Given the description of an element on the screen output the (x, y) to click on. 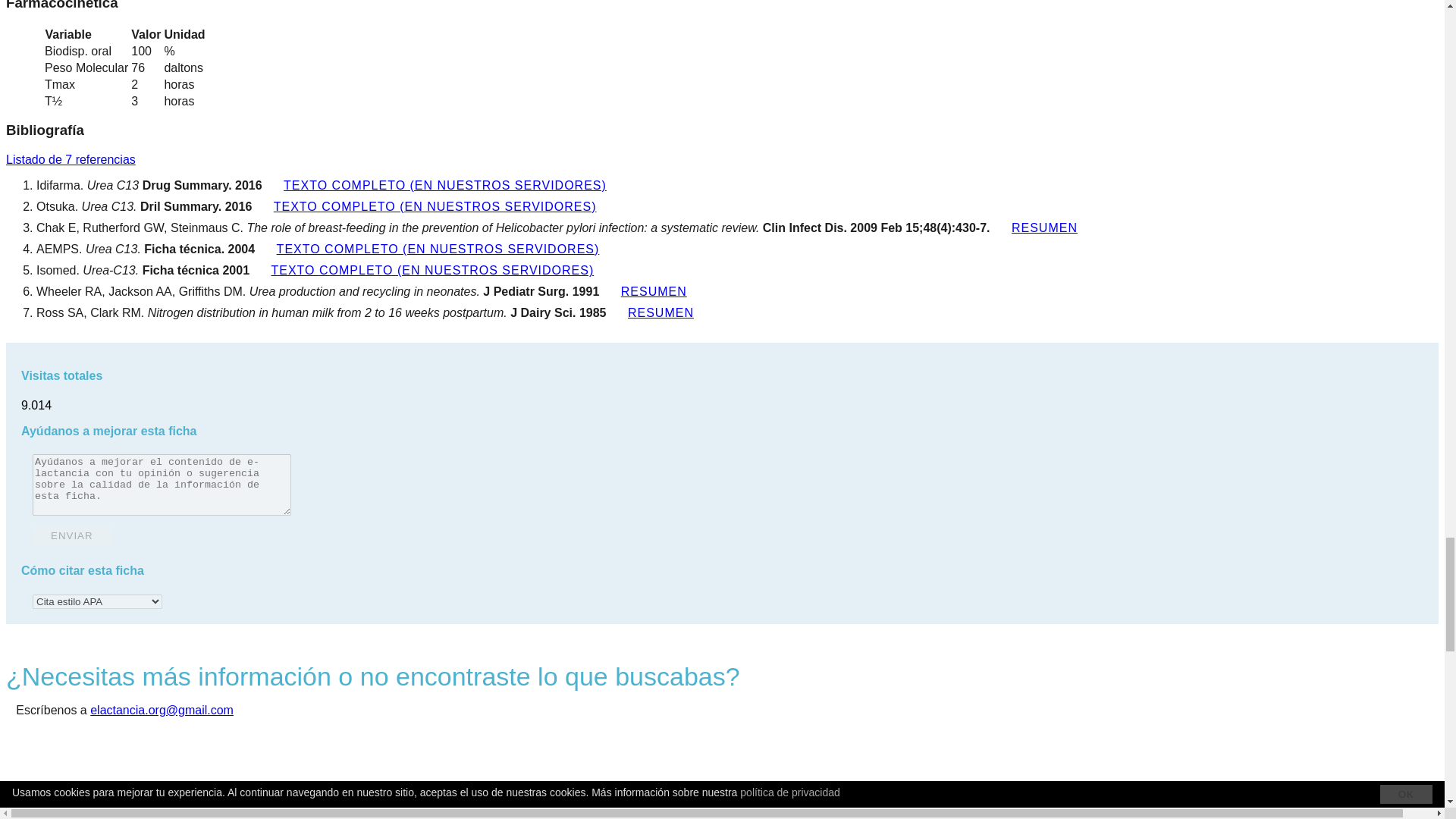
Enviar (72, 535)
